Given the description of an element on the screen output the (x, y) to click on. 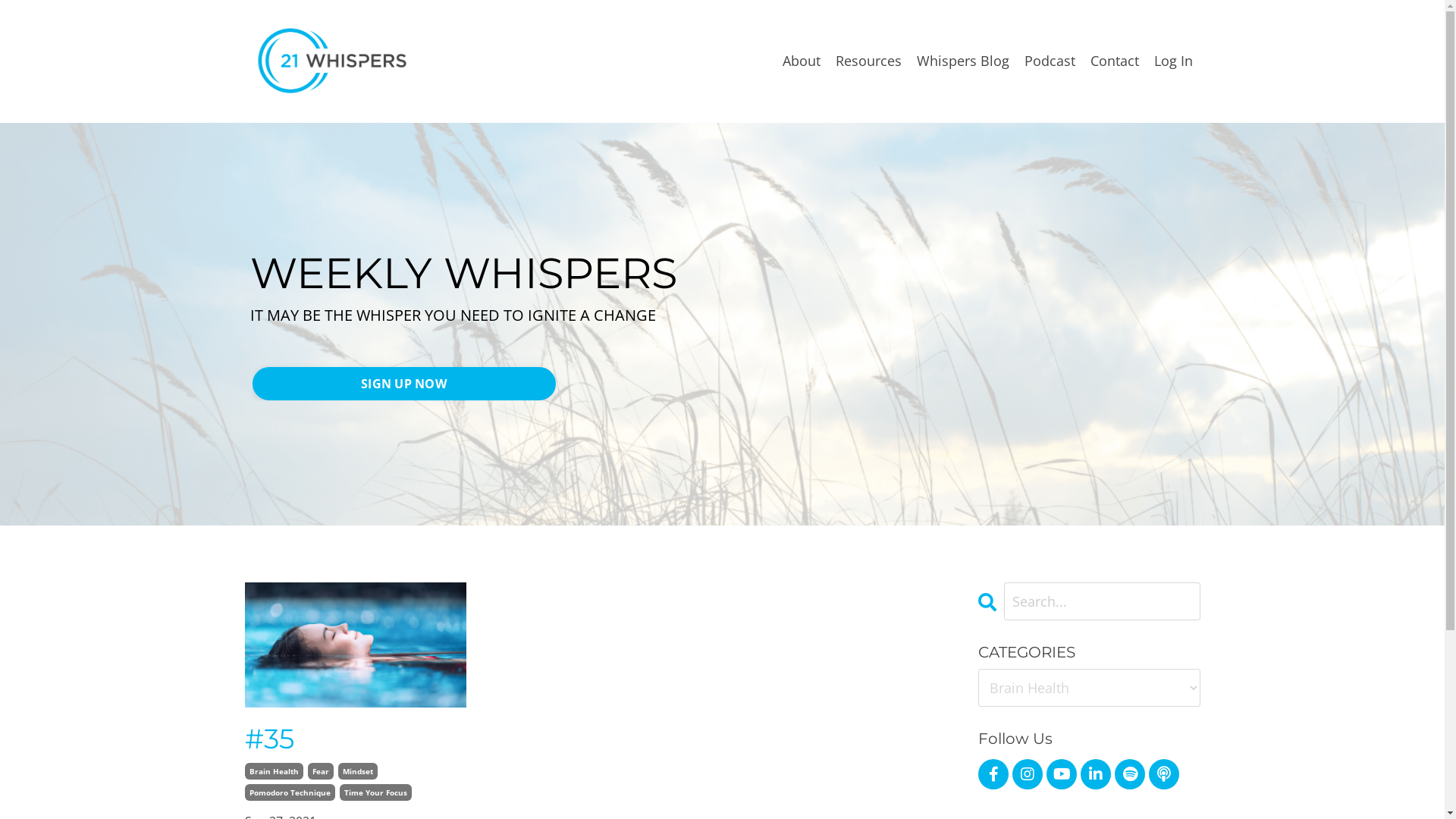
Mindset Element type: text (357, 770)
Time Your Focus Element type: text (375, 792)
Fear Element type: text (320, 770)
Whispers Blog Element type: text (962, 60)
#35 Element type: text (354, 738)
Contact Element type: text (1114, 60)
Resources Element type: text (868, 60)
SIGN UP NOW Element type: text (403, 383)
Brain Health Element type: text (273, 770)
About Element type: text (801, 60)
Log In Element type: text (1173, 60)
Pomodoro Technique Element type: text (289, 792)
Podcast Element type: text (1048, 60)
